Given the description of an element on the screen output the (x, y) to click on. 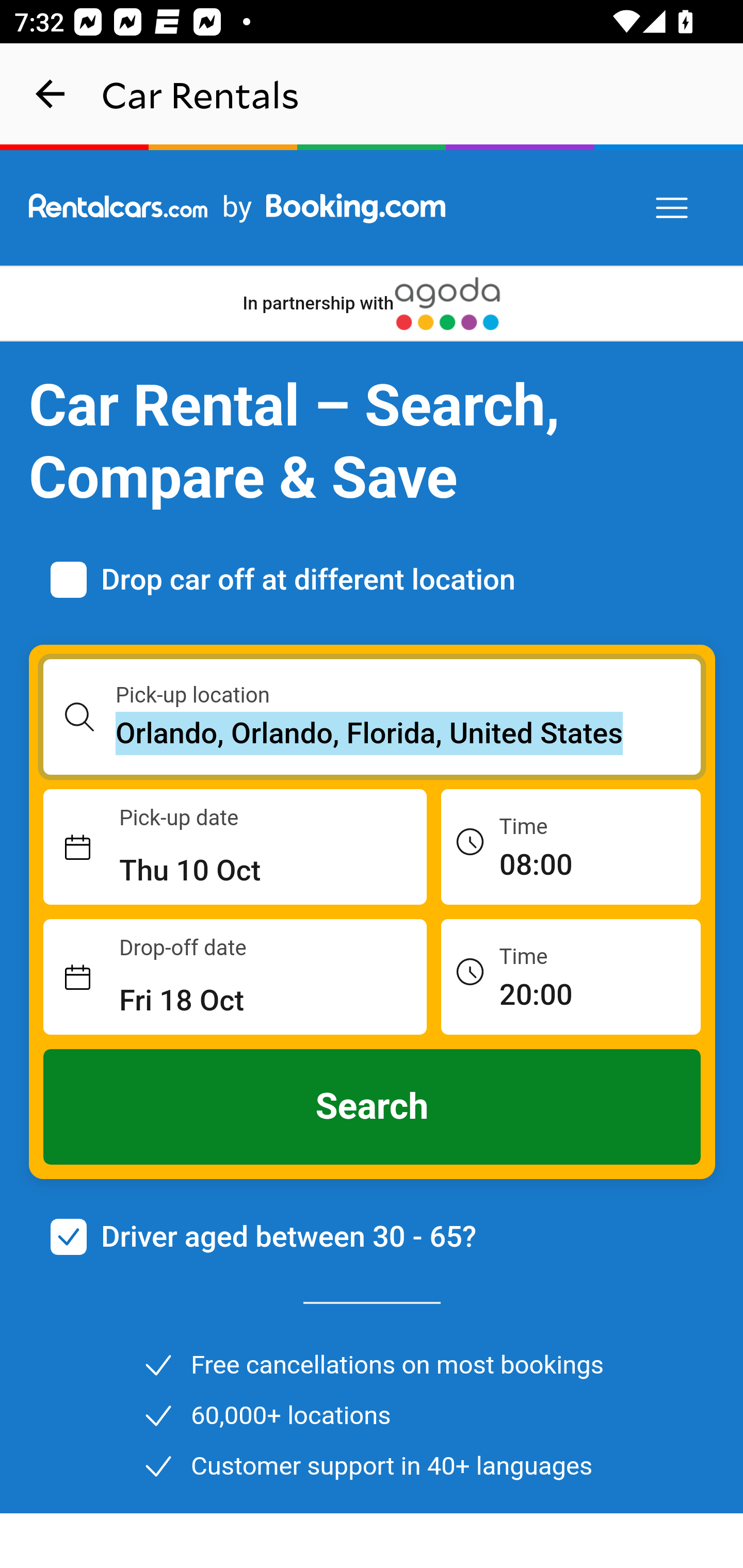
navigation_button (50, 93)
Menu (672, 208)
Orlando, Orlando, Florida, United States (408, 733)
Pick-up date Thu 10 Oct (235, 847)
08:00 (571, 845)
Drop-off date Fri 18 Oct (235, 977)
20:00 (571, 975)
Search (372, 1106)
